Given the description of an element on the screen output the (x, y) to click on. 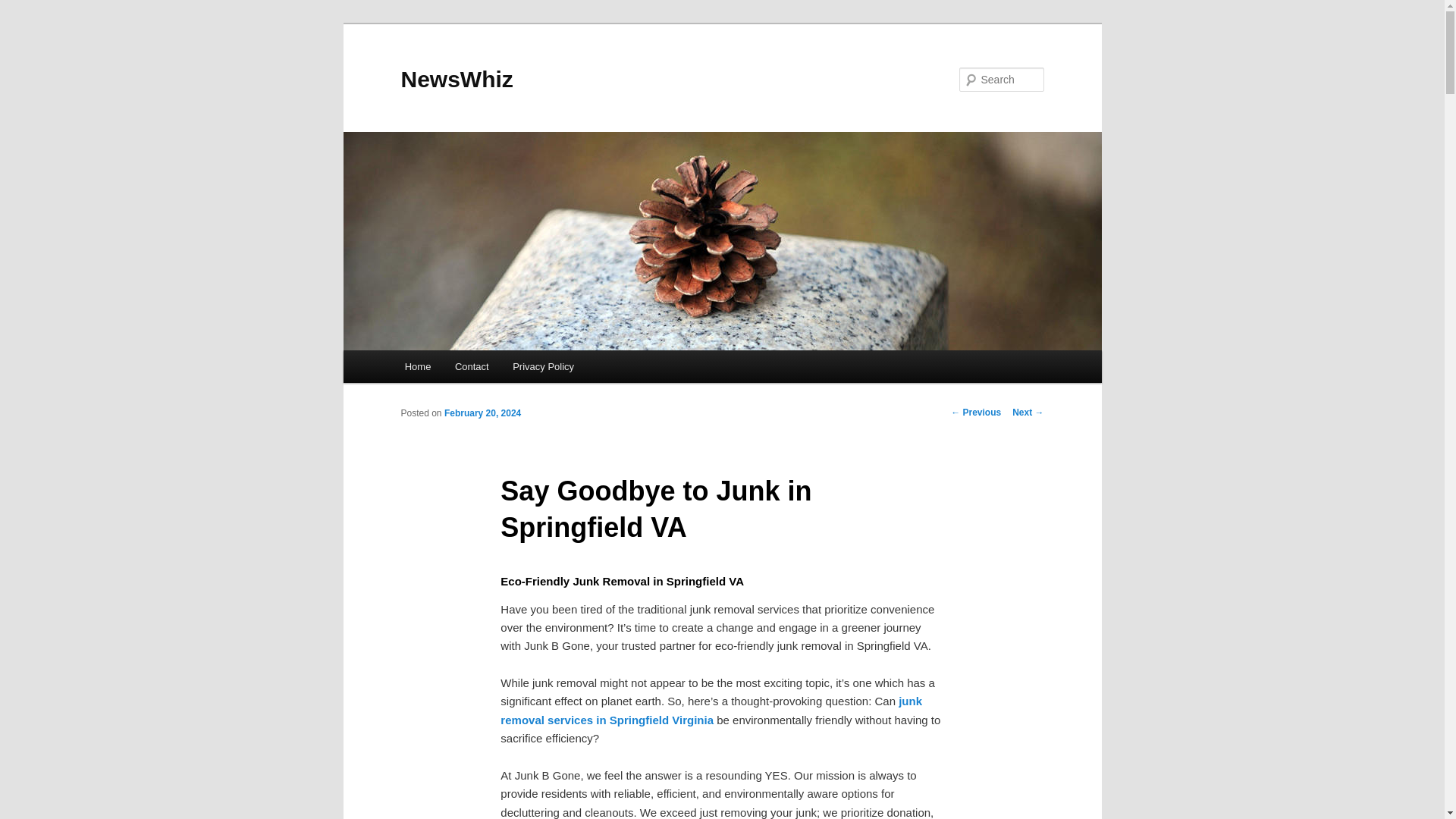
February 20, 2024 (482, 412)
junk removal services in Springfield Virginia (710, 709)
Search (24, 8)
Privacy Policy (542, 366)
NewsWhiz (456, 78)
10:57 pm (482, 412)
Home (417, 366)
Contact (471, 366)
